Given the description of an element on the screen output the (x, y) to click on. 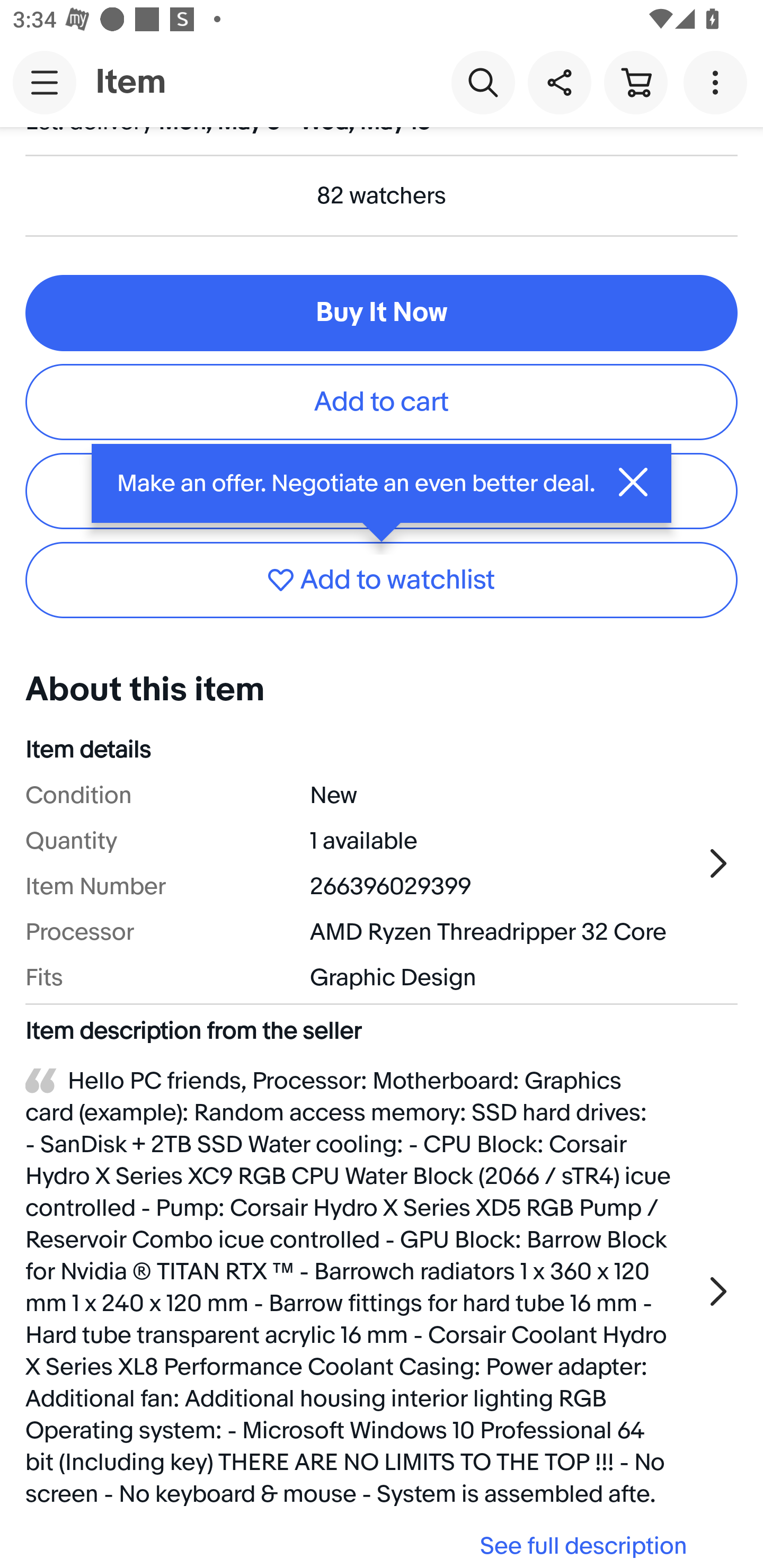
Main navigation, open (44, 82)
Search (482, 81)
Share this item (559, 81)
Cart button shopping cart (635, 81)
More options (718, 81)
Buy It Now (381, 312)
Add to cart (381, 401)
Make offer (381, 491)
Add to watchlist (381, 579)
See full description (362, 1544)
